Given the description of an element on the screen output the (x, y) to click on. 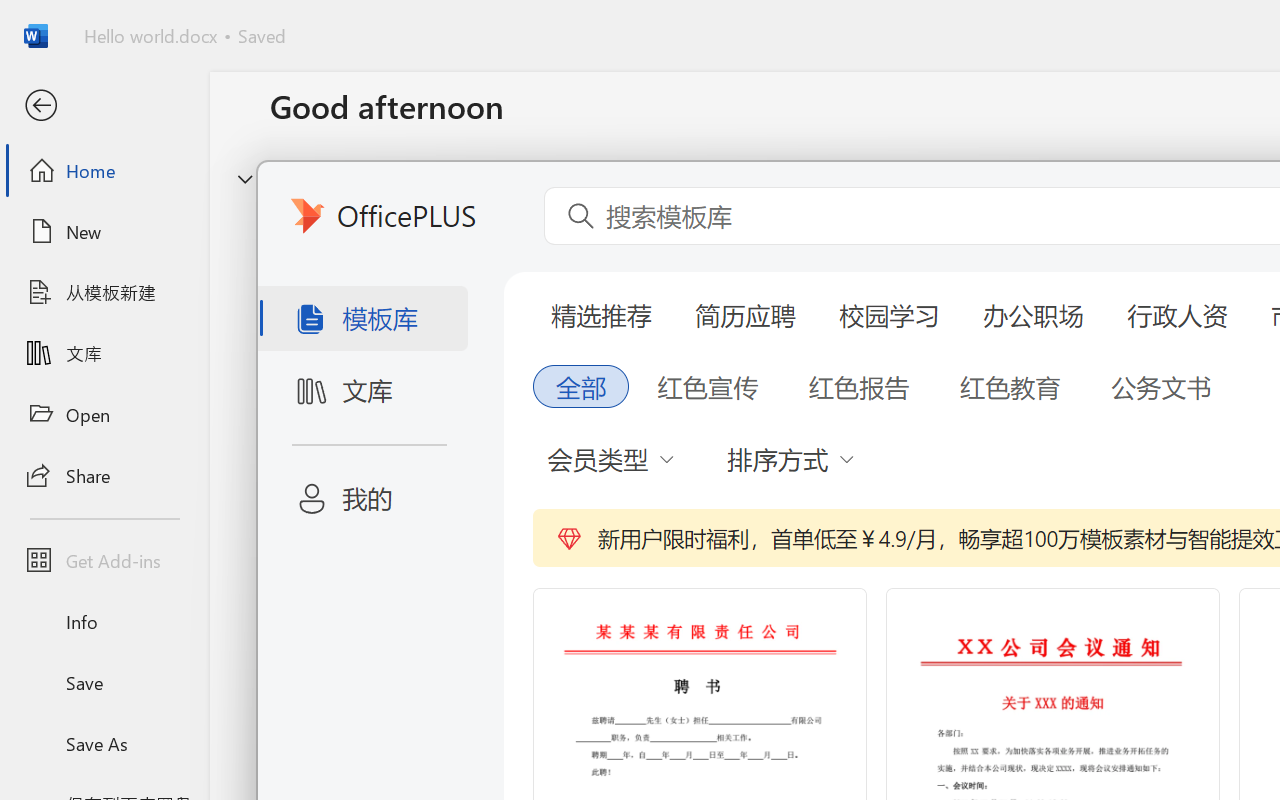
Info (104, 621)
Home (104, 170)
Open (104, 414)
Back (104, 106)
